Given the description of an element on the screen output the (x, y) to click on. 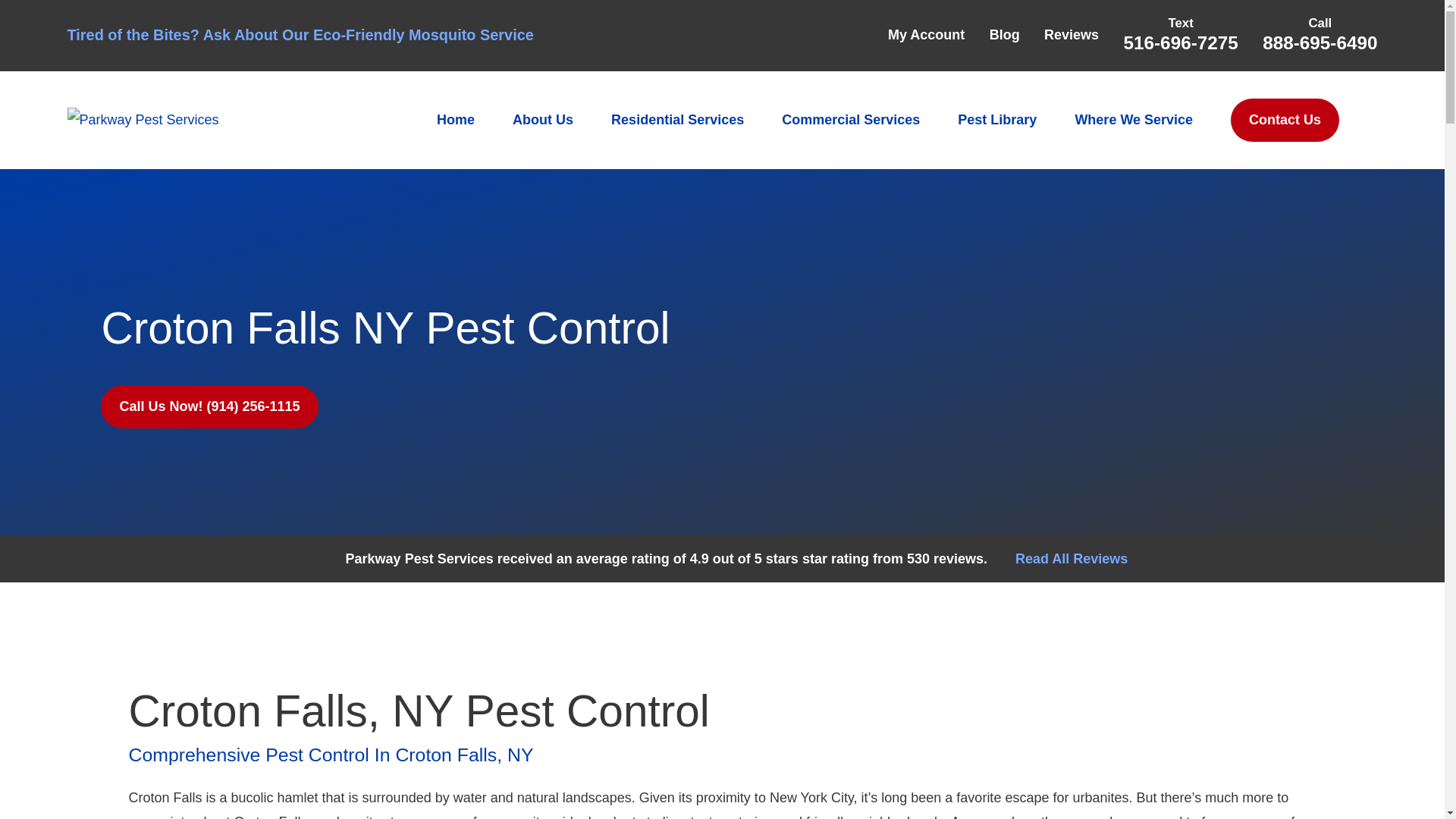
Commercial Services (850, 120)
Residential Services (677, 120)
My Account (925, 34)
Blog (1005, 34)
Home (142, 119)
Reviews (1071, 34)
About Us (542, 120)
888-695-6490 (1319, 42)
